Given the description of an element on the screen output the (x, y) to click on. 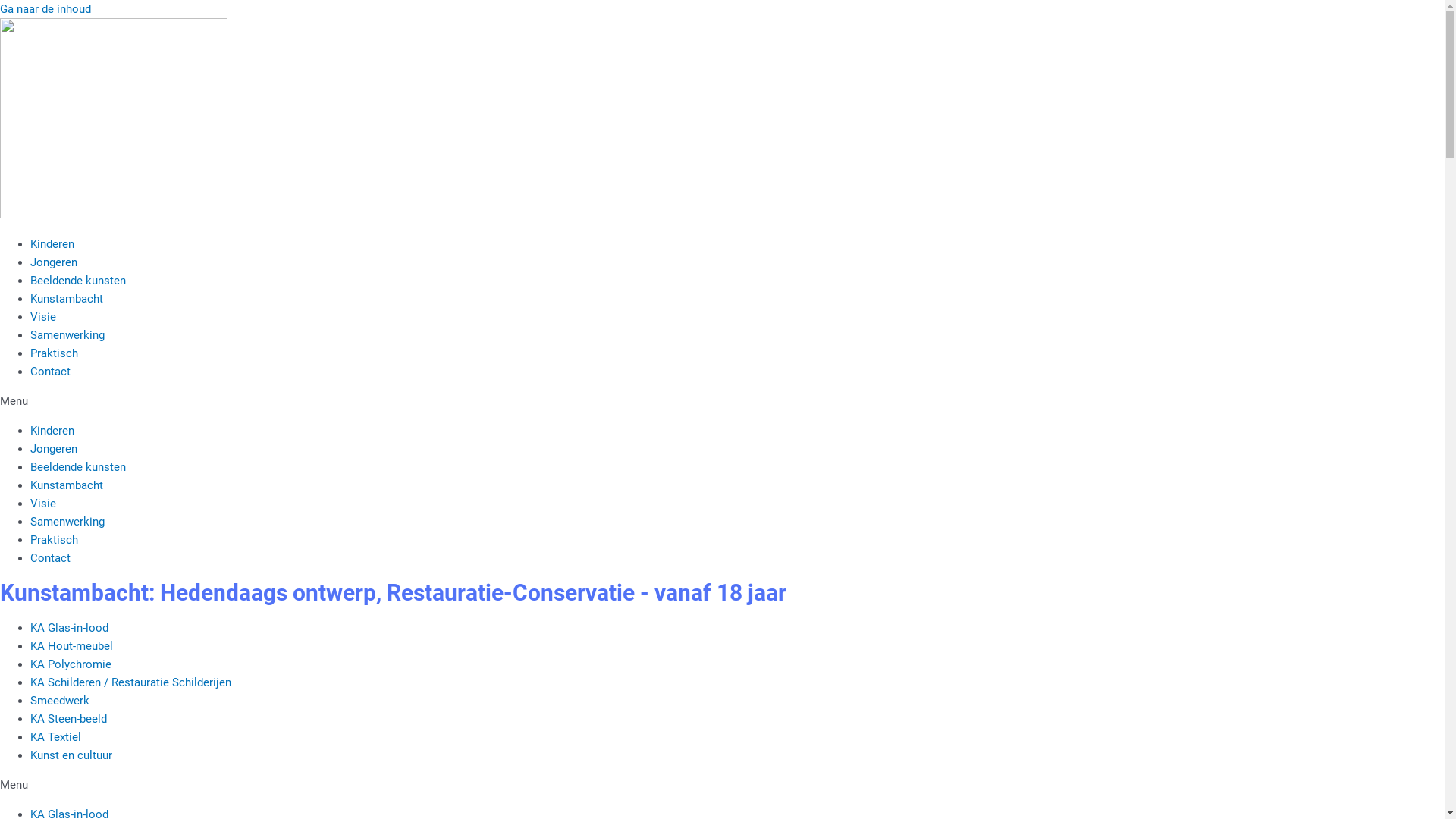
Smeedwerk Element type: text (59, 699)
Kunstambacht Element type: text (66, 298)
KA Polychromie Element type: text (70, 663)
KA Hout-meubel Element type: text (71, 645)
Samenwerking Element type: text (67, 521)
Praktisch Element type: text (54, 353)
Beeldende kunsten Element type: text (77, 466)
Ga naar de inhoud Element type: text (45, 8)
Praktisch Element type: text (54, 539)
Beeldende kunsten Element type: text (77, 280)
Contact Element type: text (50, 371)
Kunst en cultuur Element type: text (71, 754)
Jongeren Element type: text (53, 448)
Kinderen Element type: text (52, 430)
Jongeren Element type: text (53, 262)
KA Steen-beeld Element type: text (68, 717)
Samenwerking Element type: text (67, 335)
Kinderen Element type: text (52, 244)
KA Schilderen / Restauratie Schilderijen Element type: text (130, 681)
Kunstambacht Element type: text (66, 485)
KA Glas-in-lood Element type: text (69, 626)
Visie Element type: text (43, 316)
KA Textiel Element type: text (55, 736)
Contact Element type: text (50, 557)
Visie Element type: text (43, 503)
